Given the description of an element on the screen output the (x, y) to click on. 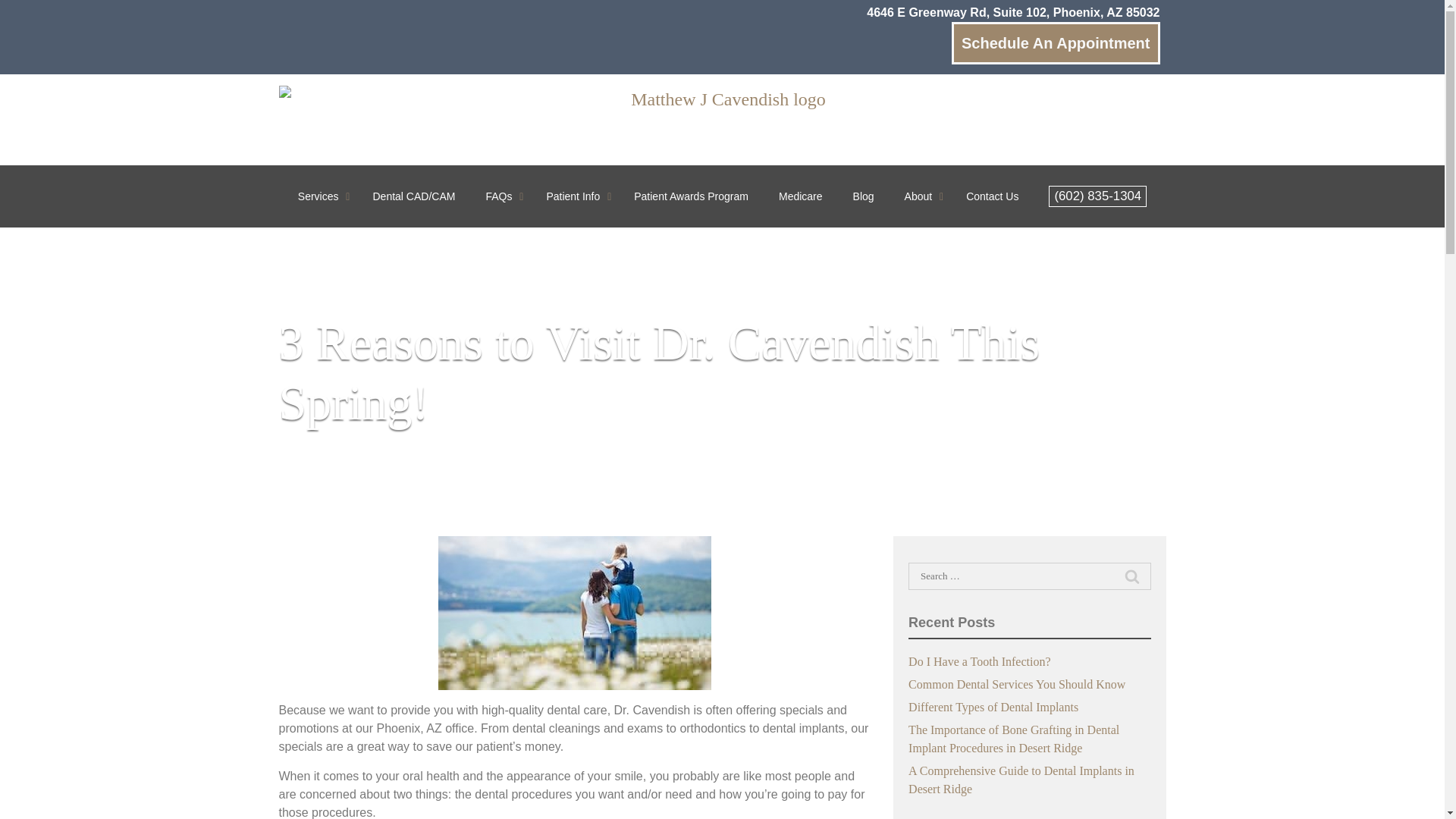
Schedule An Appointment (1056, 43)
Visit Dr. Cavendish For Cosmetic Dentistry (574, 613)
4646 E Greenway Rd, Suite 102, Phoenix, AZ 85032 (1012, 13)
